Given the description of an element on the screen output the (x, y) to click on. 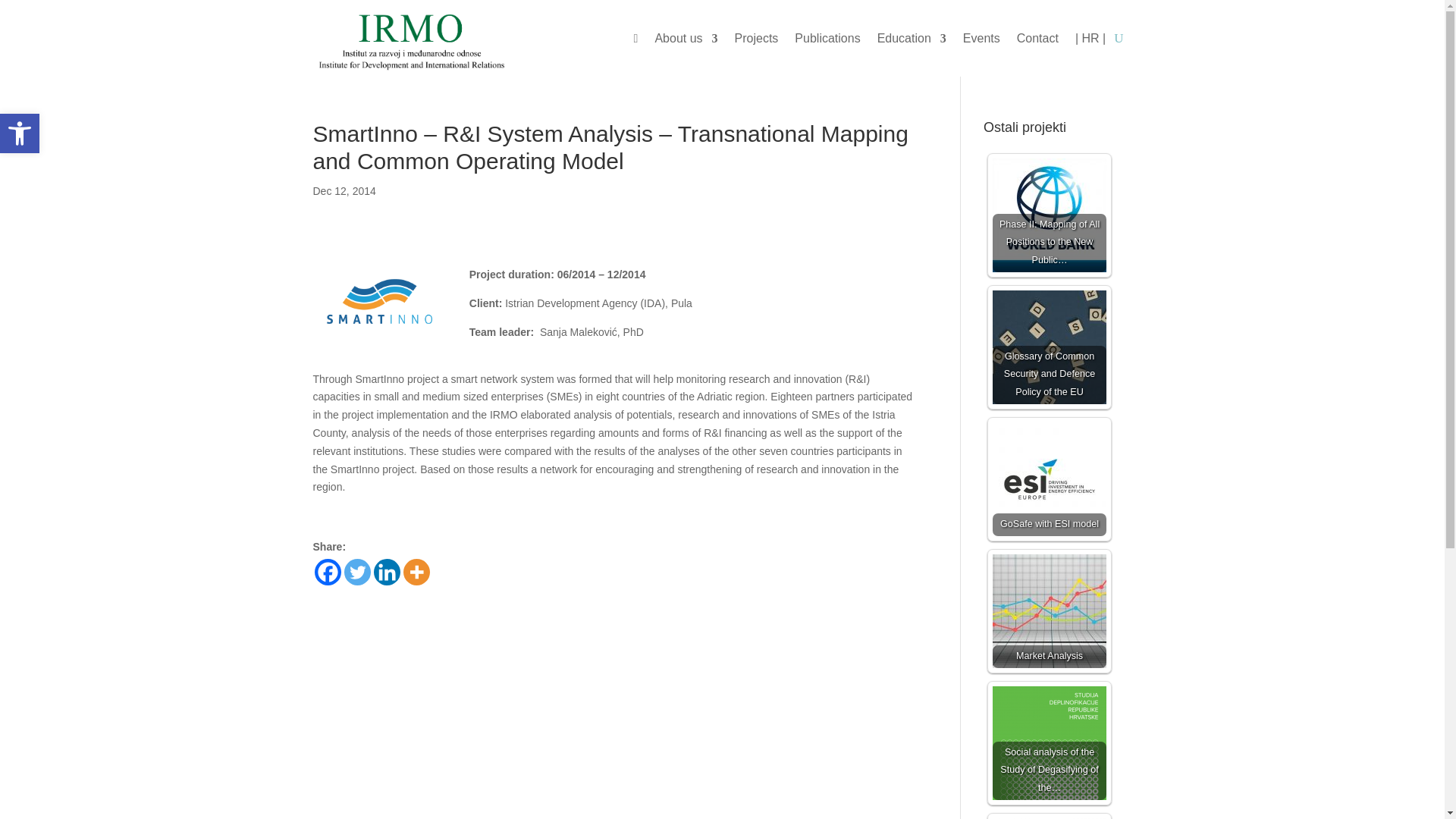
Education (911, 41)
Contact (1037, 41)
About us (685, 41)
Projects (756, 41)
Publications (827, 41)
Events (981, 41)
